Given the description of an element on the screen output the (x, y) to click on. 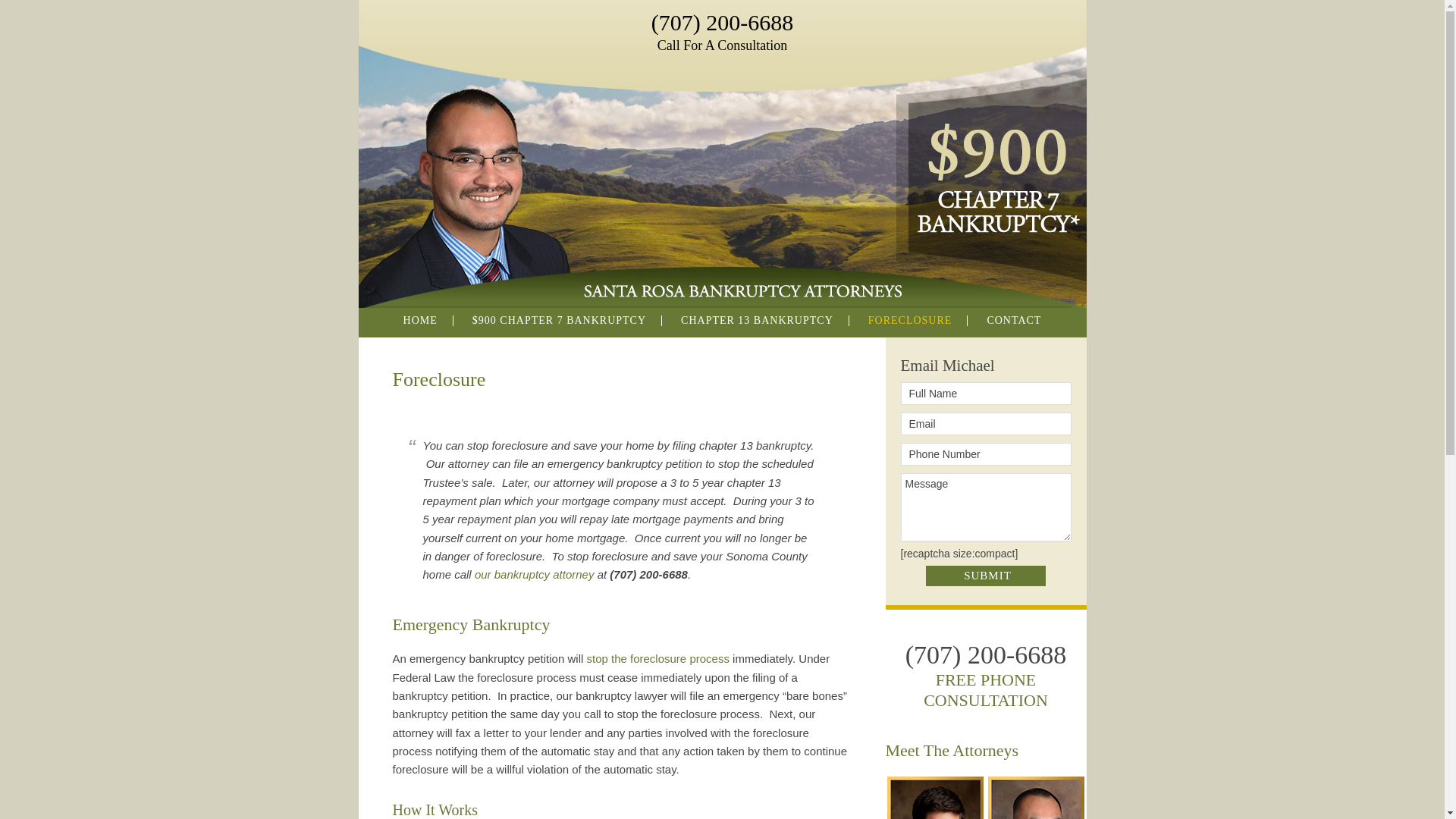
CONTACT (1014, 320)
Submit (985, 575)
HOME (420, 320)
our bankruptcy attorney (534, 574)
Sonoma Bankruptcy Law (722, 301)
stop the foreclosure process (657, 658)
FORECLOSURE (910, 320)
Submit (985, 575)
CHAPTER 13 BANKRUPTCY (756, 320)
